Given the description of an element on the screen output the (x, y) to click on. 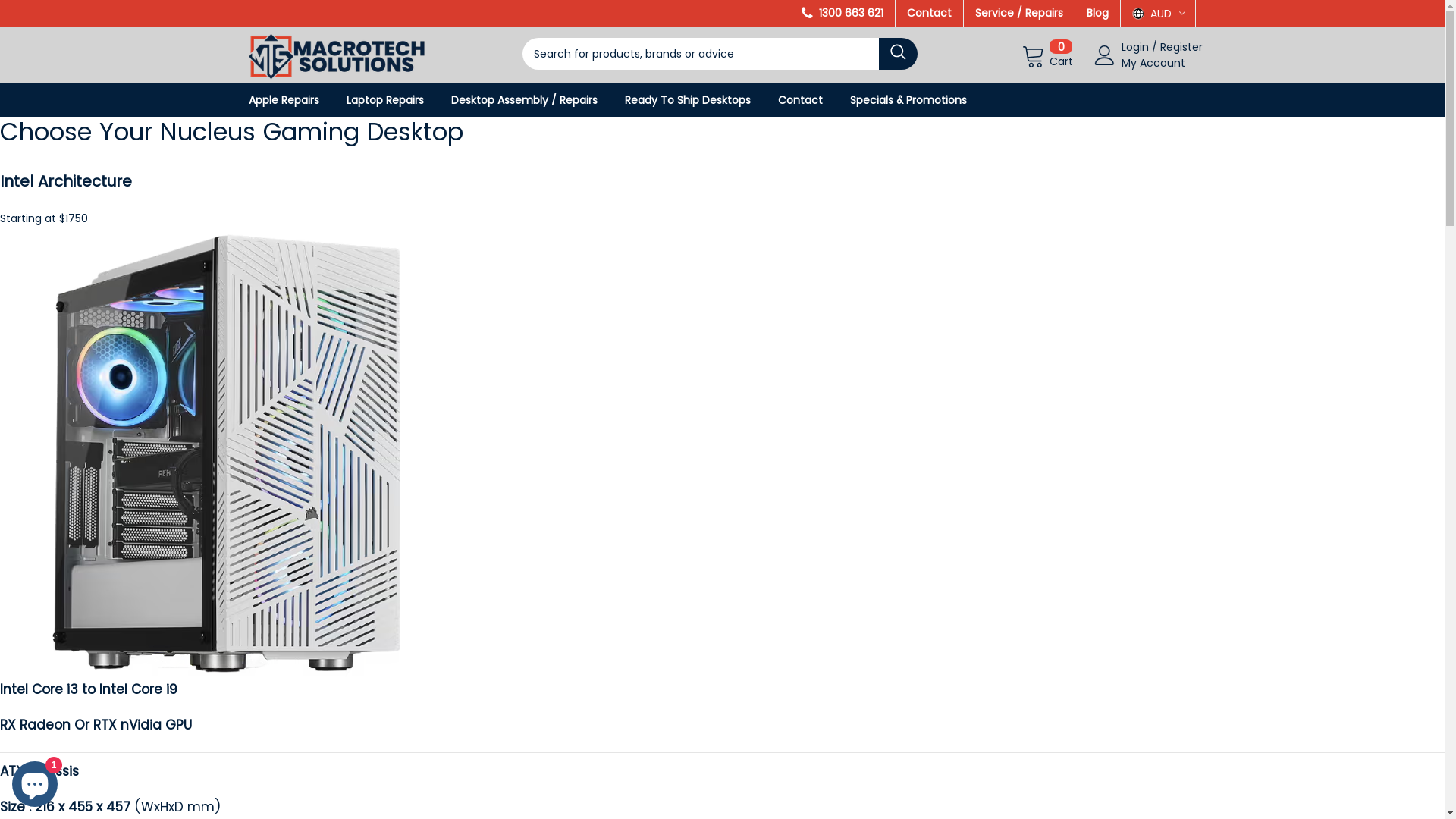
Shopify online store chat Element type: hover (34, 780)
Contact Element type: text (812, 99)
User Icon Element type: hover (1104, 55)
Contact Element type: text (928, 12)
Apple Repairs Element type: text (295, 99)
  1300 663 621 Element type: text (842, 12)
Laptop Repairs Element type: text (396, 99)
/ Element type: text (1154, 46)
Logo Element type: hover (337, 52)
Service / Repairs Element type: text (1019, 12)
0
Cart Element type: text (1046, 55)
Desktop Assembly / Repairs Element type: text (535, 99)
My Account Element type: text (1153, 62)
Specials & Promotions Element type: text (919, 99)
Register Element type: text (1181, 46)
Blog Element type: text (1097, 12)
Login Element type: text (1136, 46)
Ready To Ship Desktops Element type: text (699, 99)
